Given the description of an element on the screen output the (x, y) to click on. 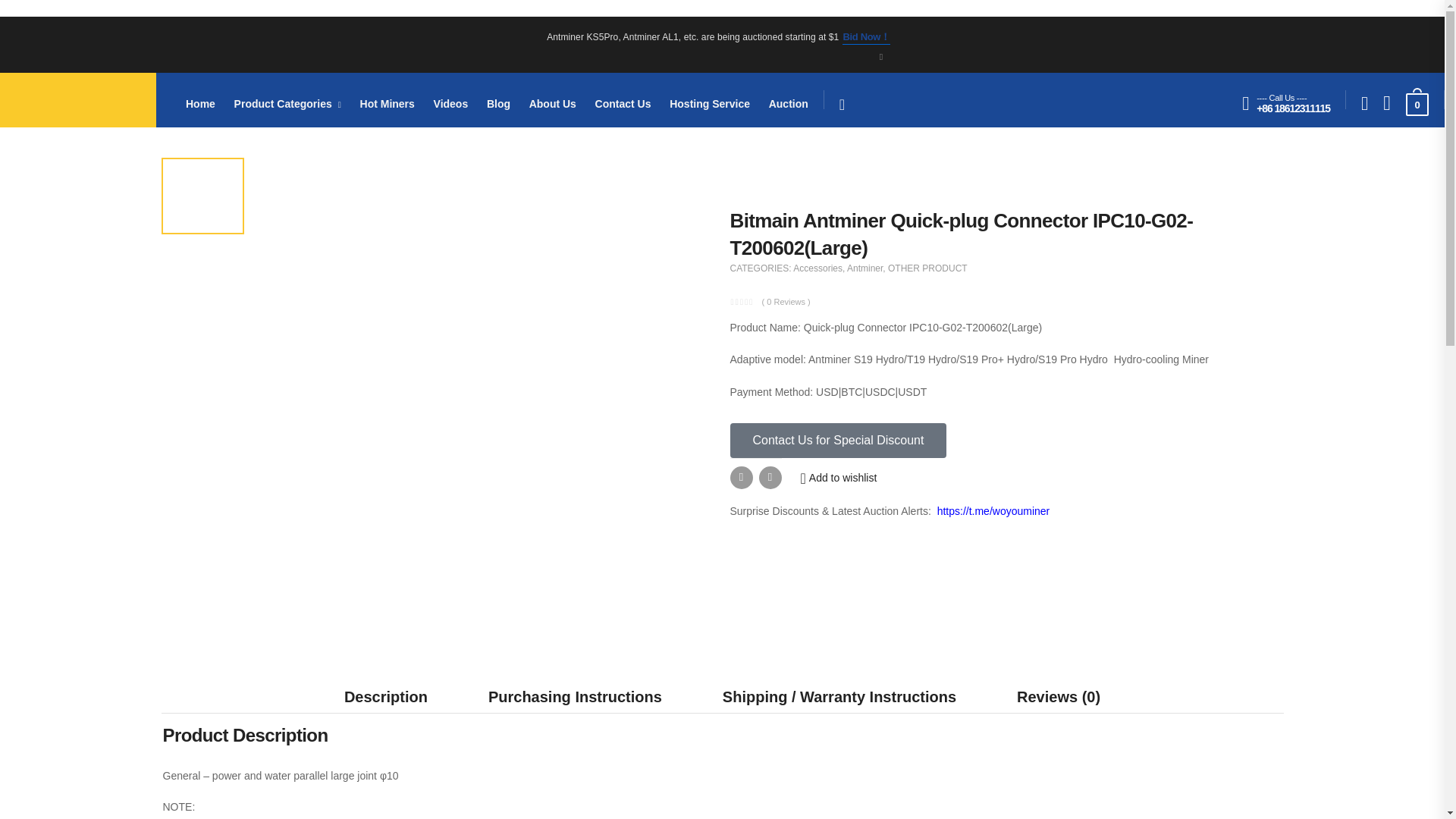
Home (200, 103)
Videos (450, 103)
Facebook (740, 477)
Twitter (769, 477)
Hot Miners (386, 103)
About Us (552, 103)
WOYOU - The most professional ASIC miner supplier (78, 99)
Product Categories (287, 103)
